Given the description of an element on the screen output the (x, y) to click on. 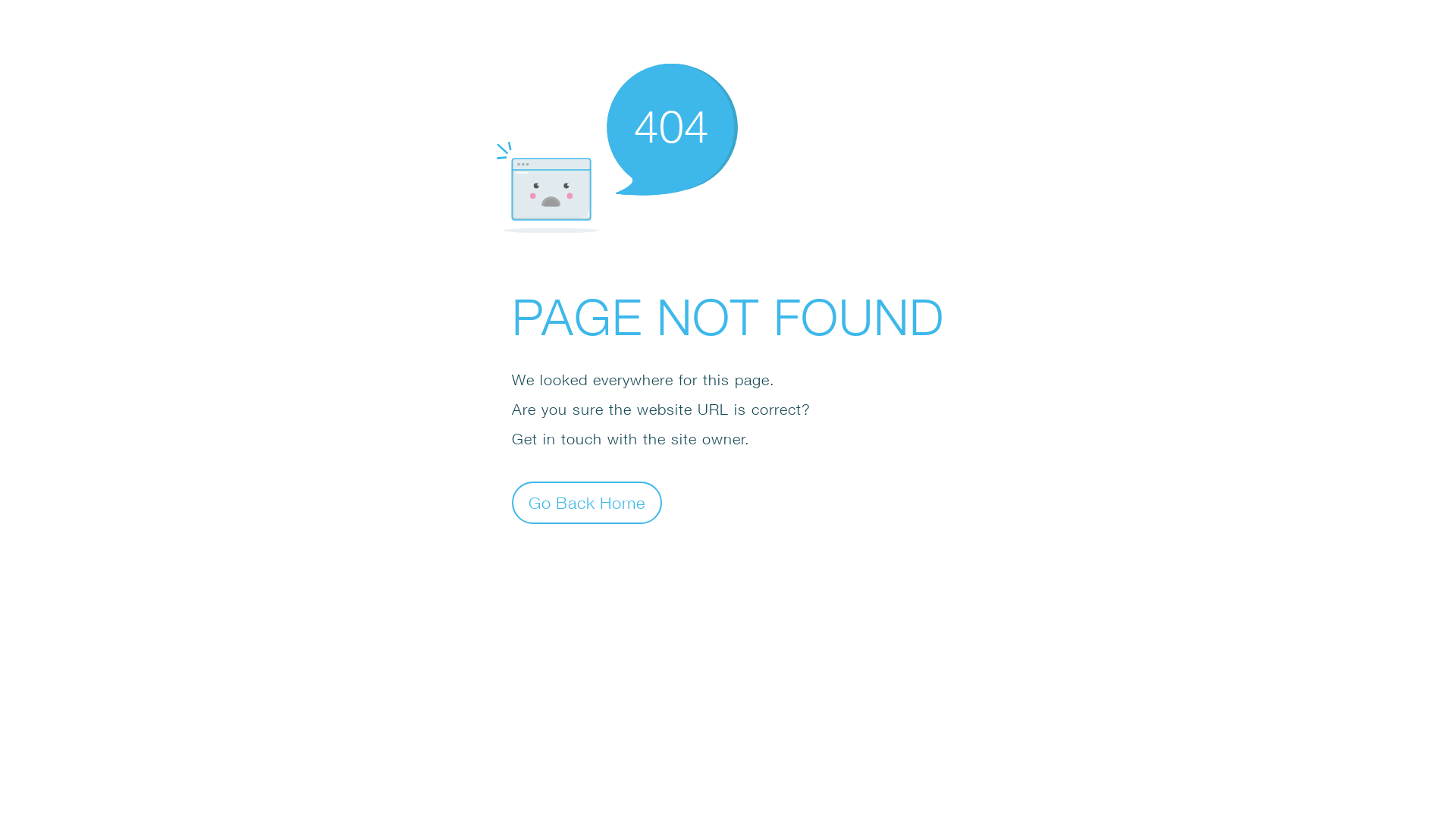
Go Back Home Element type: text (586, 502)
